Given the description of an element on the screen output the (x, y) to click on. 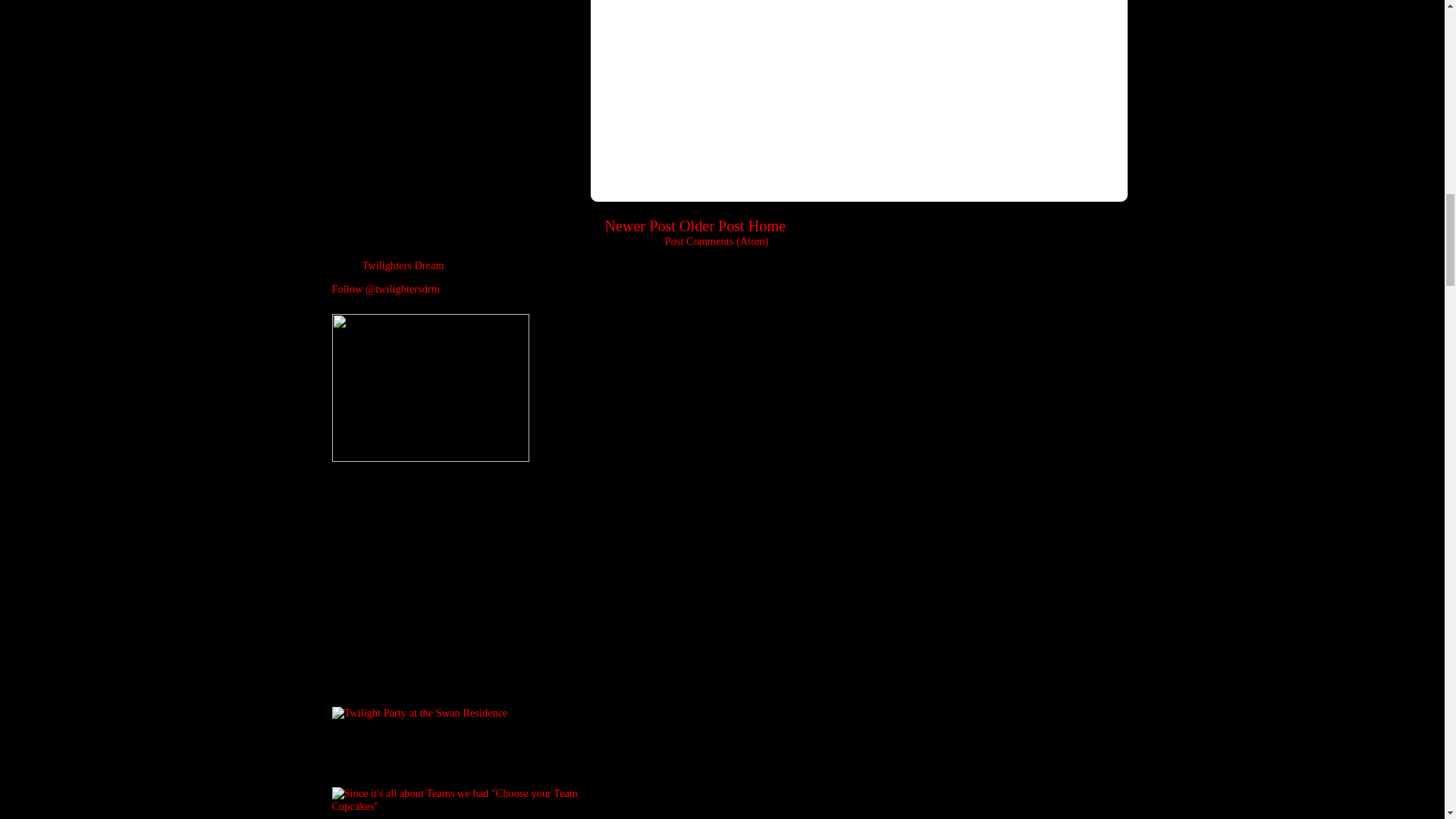
Older Post (711, 225)
Twilighters Dream (403, 265)
Older Post (711, 225)
Newer Post (641, 225)
Newer Post (641, 225)
Home (767, 225)
